Given the description of an element on the screen output the (x, y) to click on. 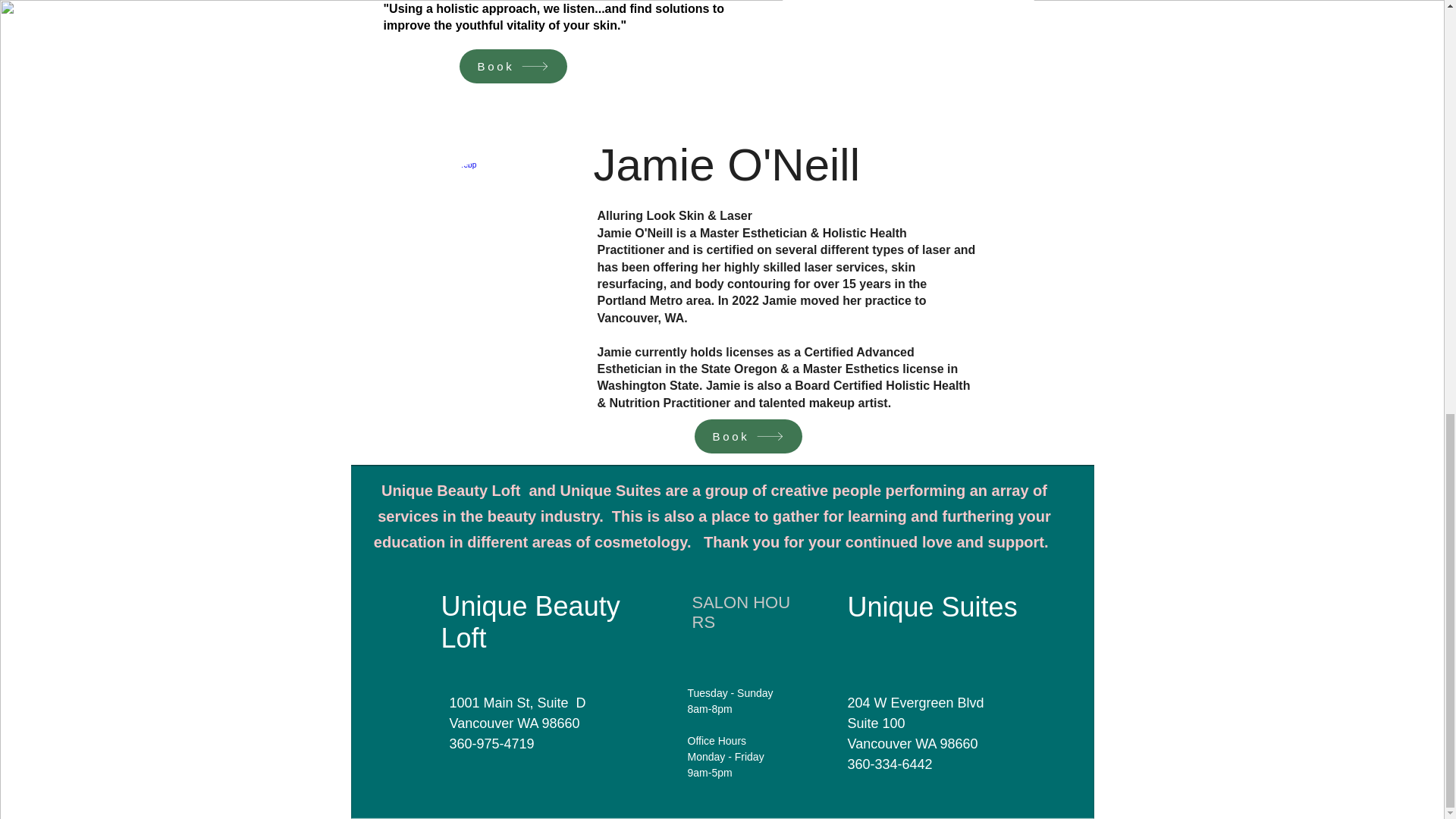
Book (748, 436)
Book (513, 66)
